Given the description of an element on the screen output the (x, y) to click on. 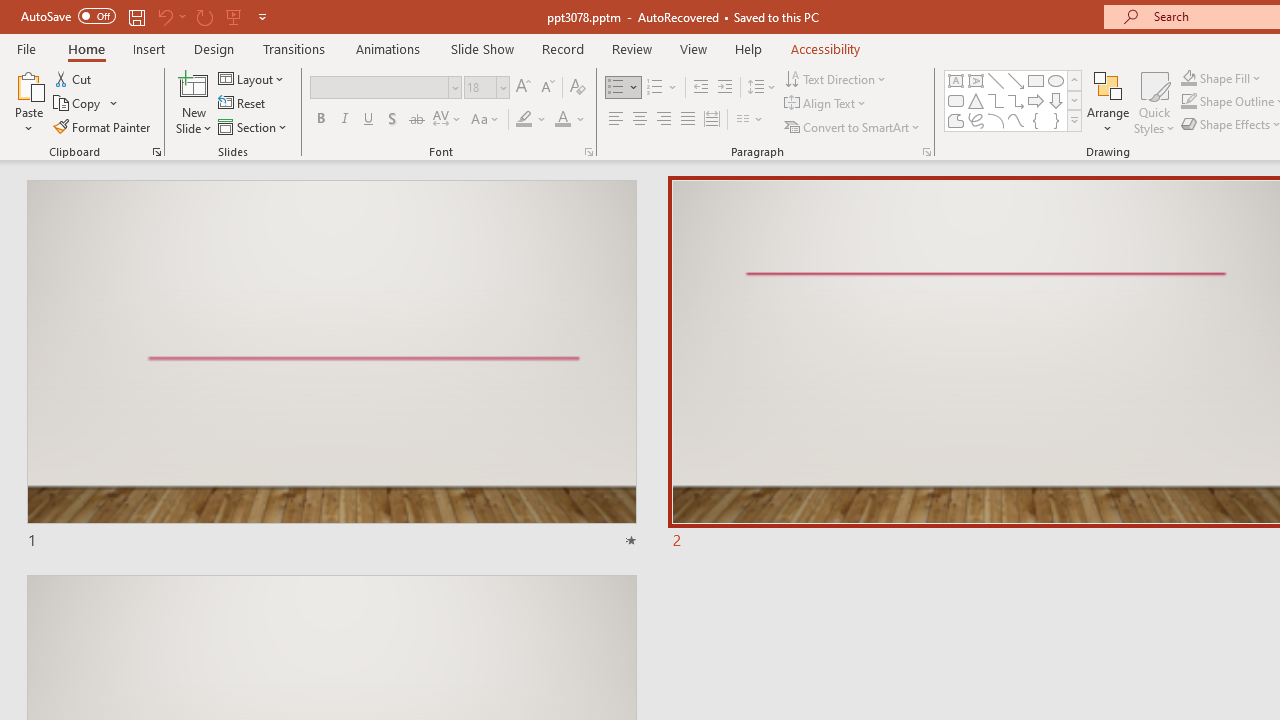
Shape Fill Dark Green, Accent 2 (1188, 78)
